Given the description of an element on the screen output the (x, y) to click on. 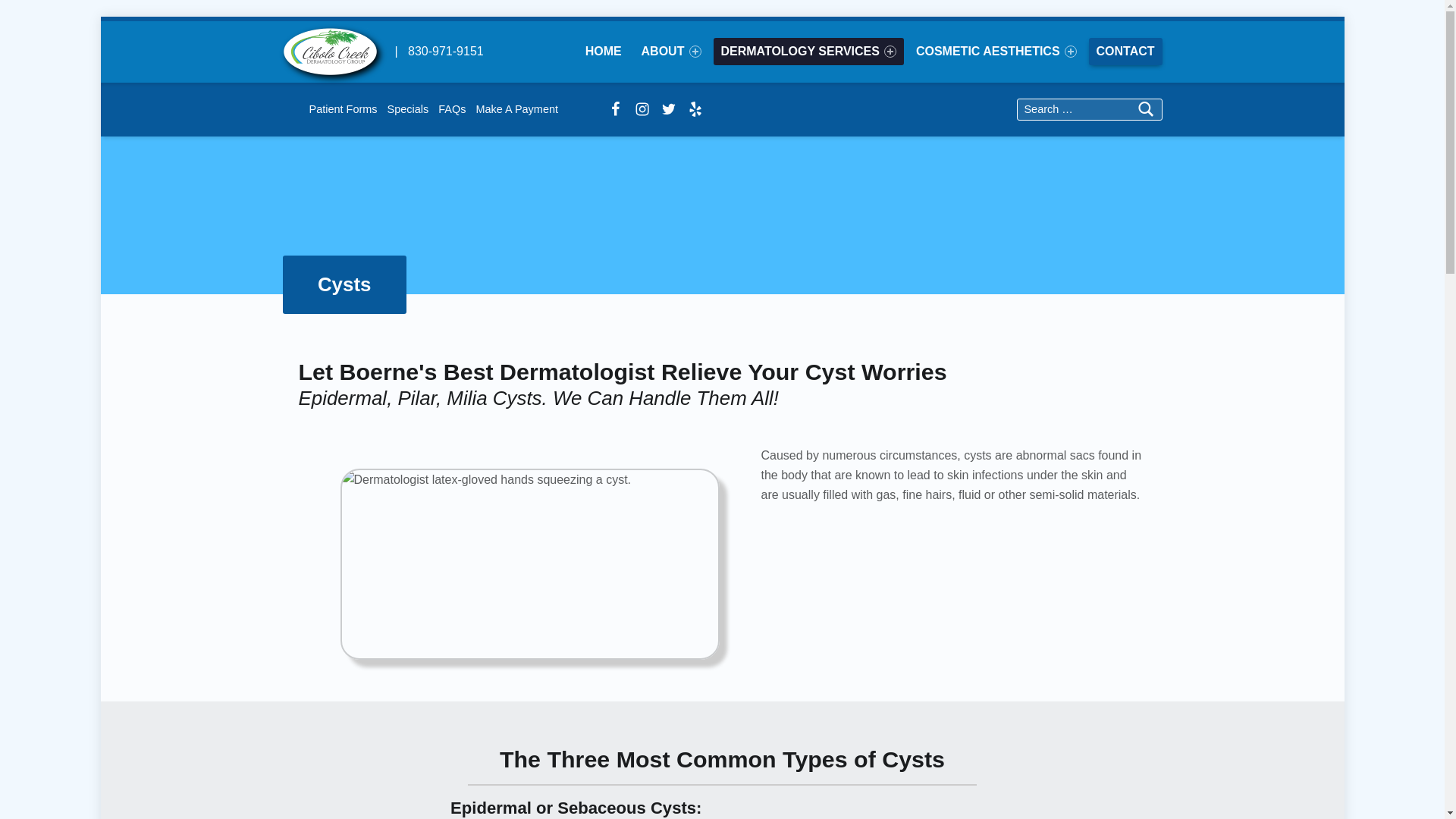
Cibolo Creek Dermatology Group (329, 50)
DERMATOLOGY SERVICES (808, 51)
ABOUT (671, 51)
Get the best WordPress themes! (695, 108)
HOME (603, 51)
